Given the description of an element on the screen output the (x, y) to click on. 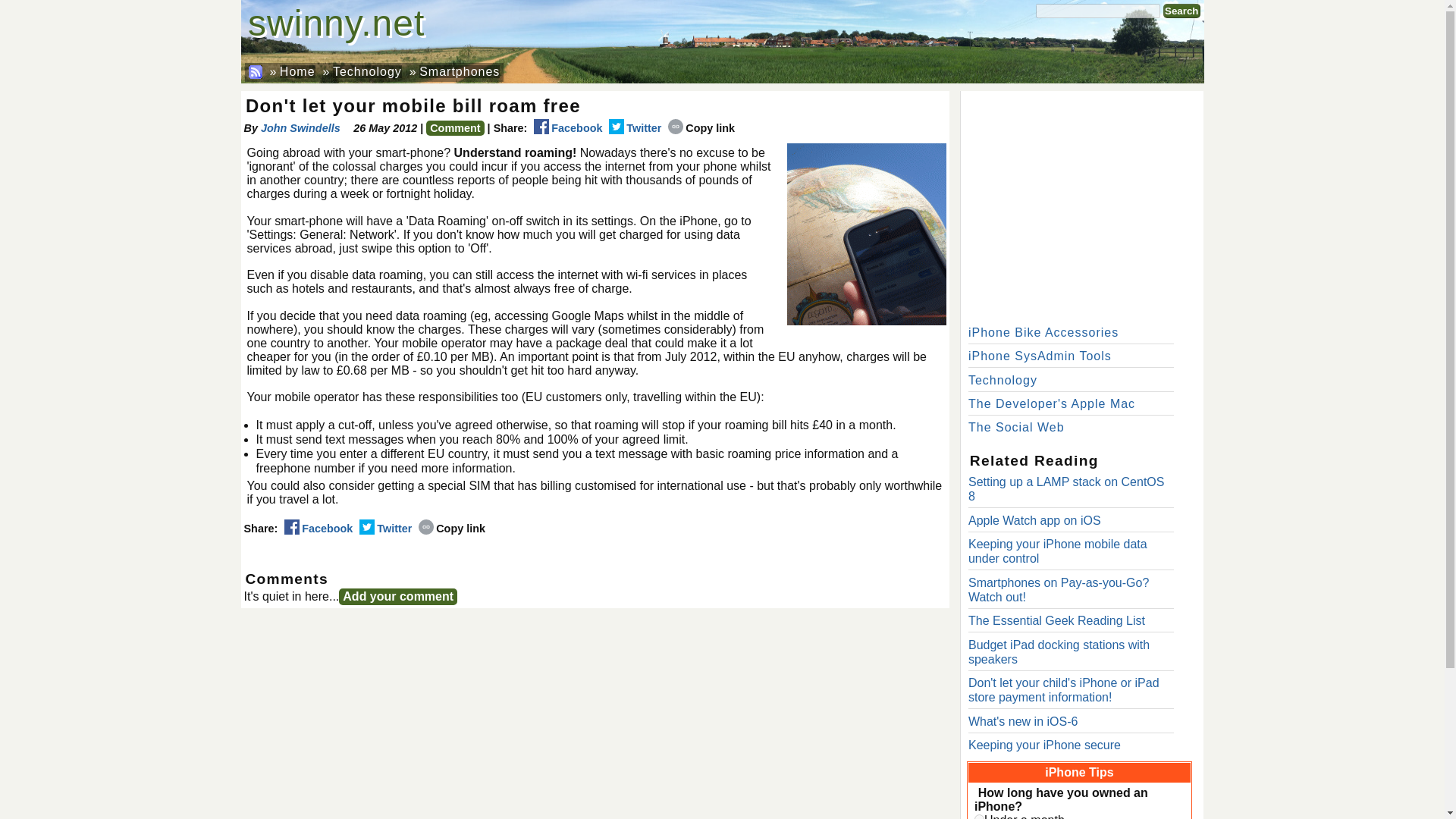
Copy link (701, 128)
Under a month (979, 816)
Home (297, 71)
Smartphones (459, 71)
John Swindells (305, 128)
Setting up a LAMP stack on CentOS 8 (1066, 488)
Keeping your iPhone mobile data under control (1057, 551)
swinny.net (336, 23)
Budget iPad docking stations with speakers (1059, 651)
Facebook (568, 128)
Apple Watch app on iOS (1034, 520)
Copy link (451, 528)
Keeping your iPhone secure (1044, 744)
Technology (367, 71)
